Given the description of an element on the screen output the (x, y) to click on. 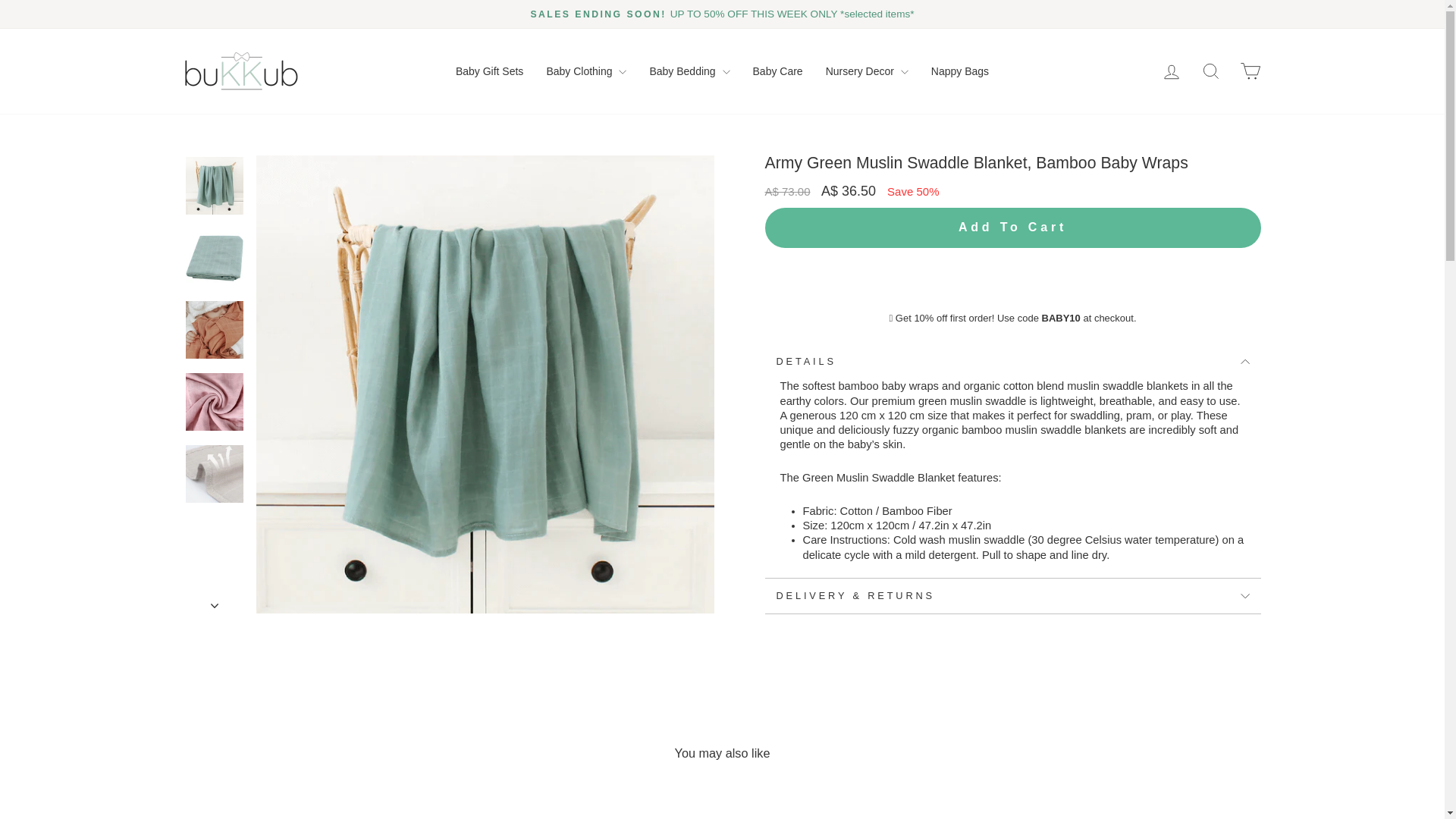
Baby Gift Sets (489, 70)
account (1170, 71)
icon-search (1210, 70)
icon-chevron (214, 605)
